Given the description of an element on the screen output the (x, y) to click on. 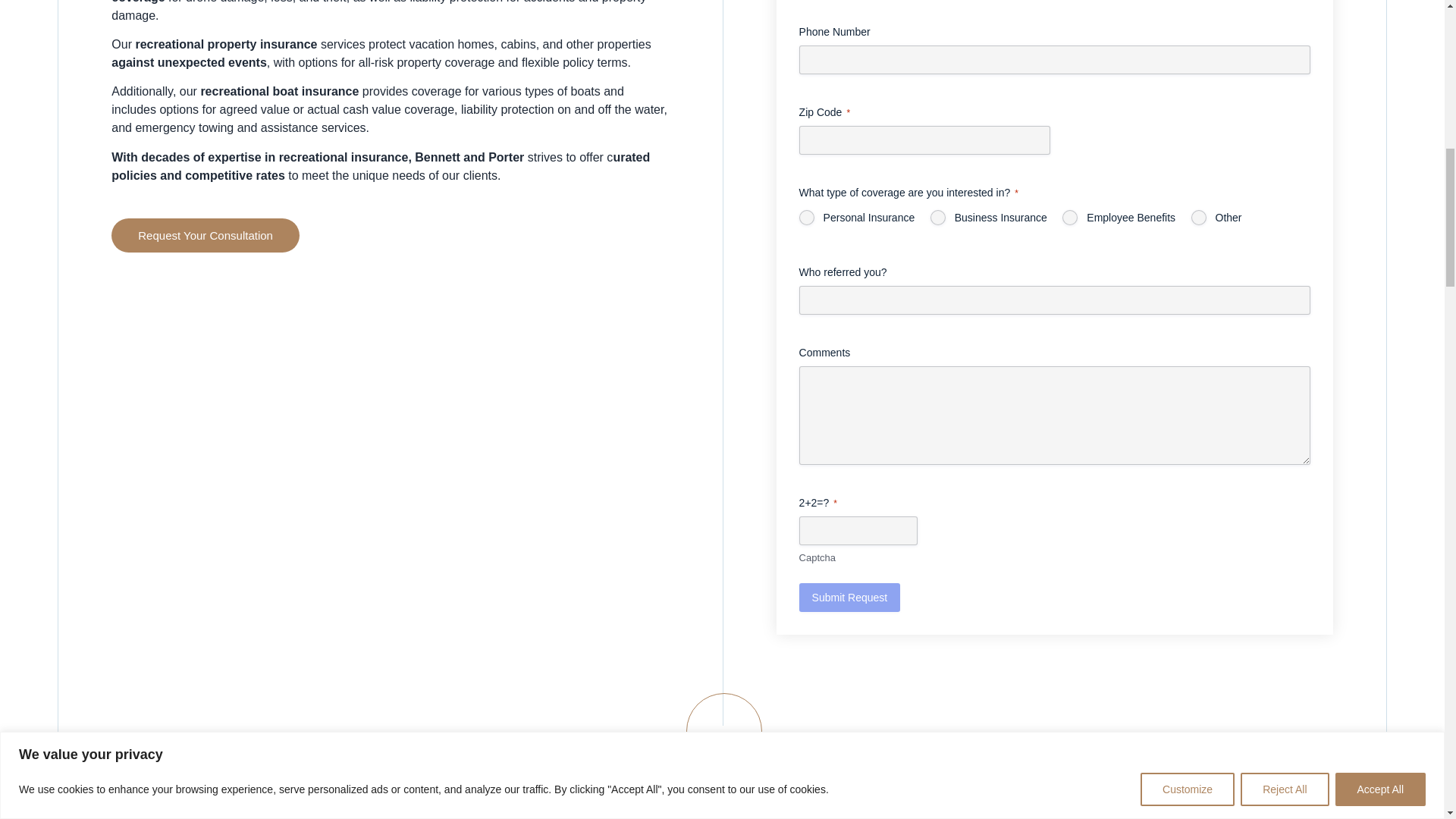
Employee Benefits (1069, 217)
Submit Request (850, 597)
Other (1199, 217)
Personal Insurance (806, 217)
Business Insurance (937, 217)
